Given the description of an element on the screen output the (x, y) to click on. 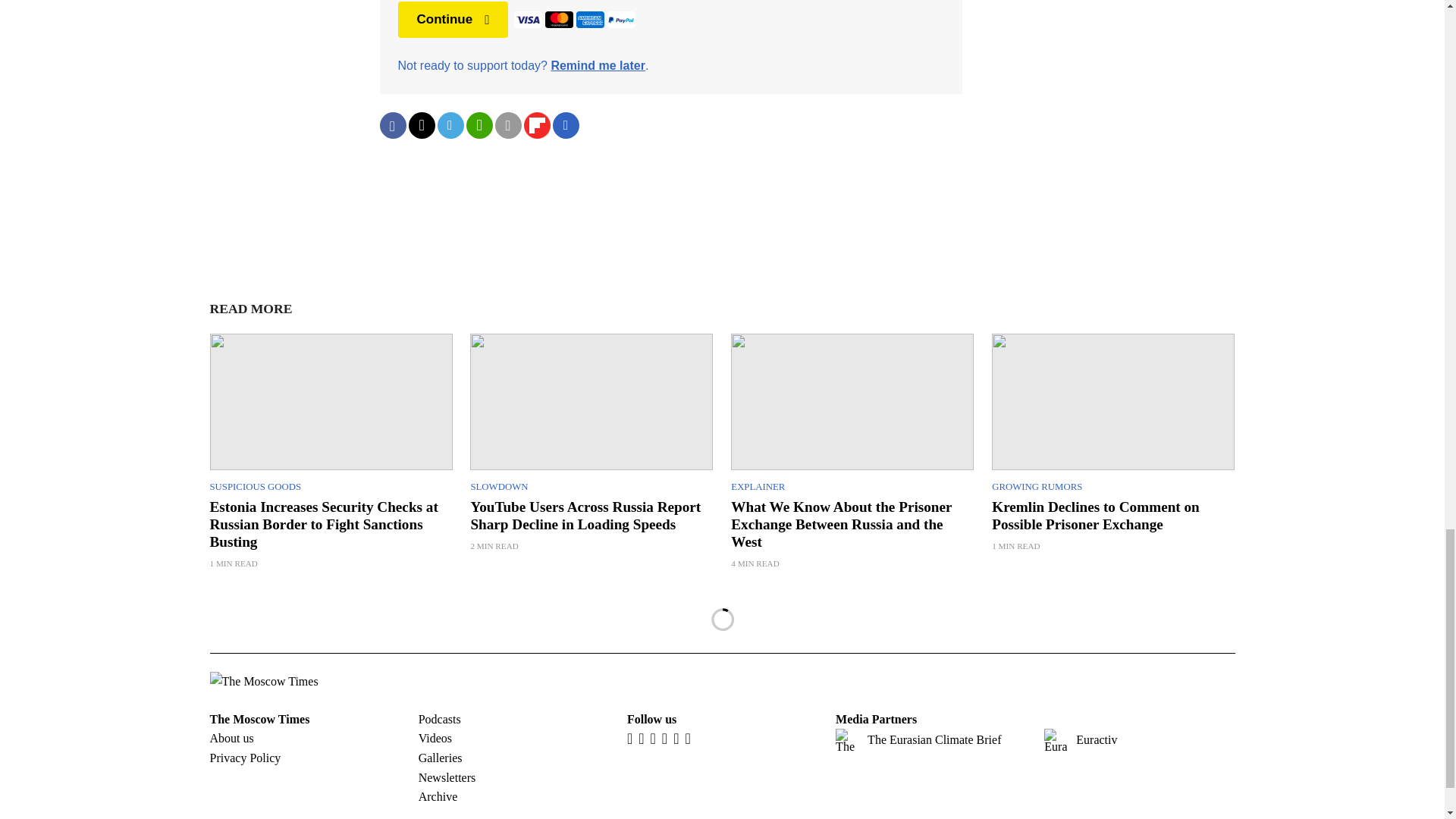
Share on Twitter (420, 125)
Share on Telegram (449, 125)
Share on Flipboard (536, 125)
Share on Facebook (392, 125)
